Given the description of an element on the screen output the (x, y) to click on. 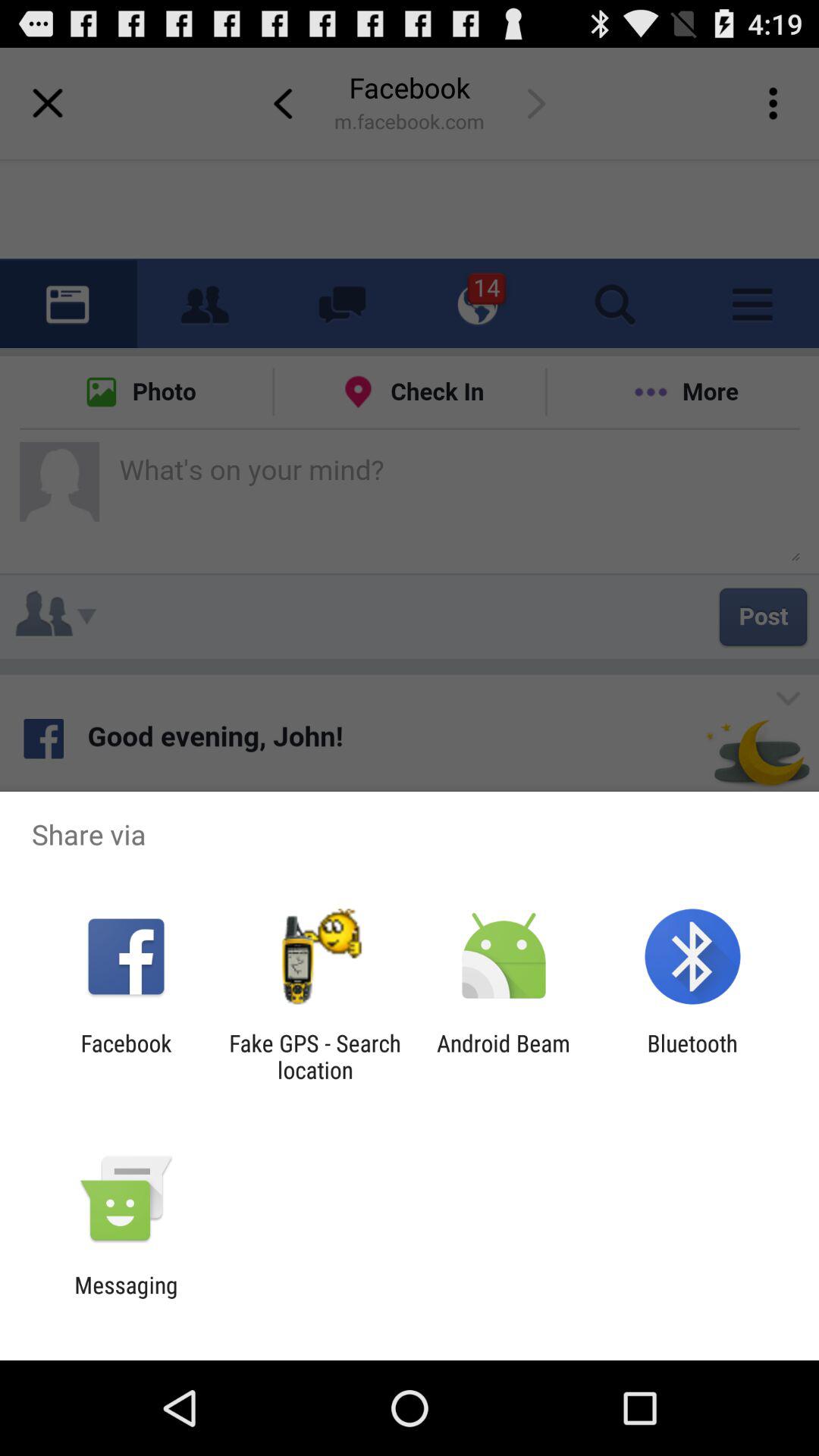
click app next to fake gps search app (125, 1056)
